Given the description of an element on the screen output the (x, y) to click on. 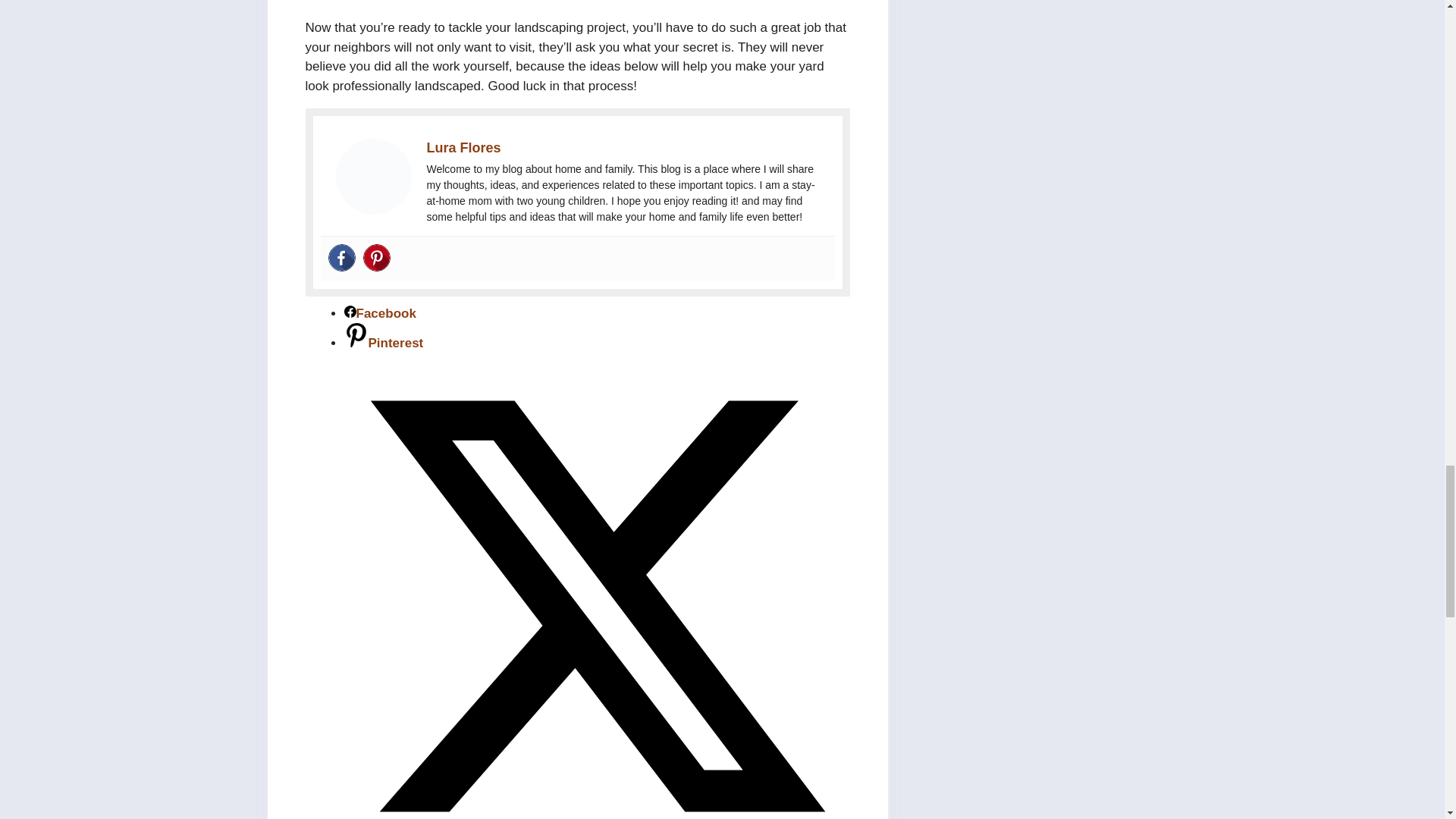
Share on Facebook (379, 313)
Share on Pinterest (383, 342)
Facebook (341, 257)
Pinterest (376, 257)
Landscaping Advice To Help Out Beginners Succeed 2 (372, 176)
